Given the description of an element on the screen output the (x, y) to click on. 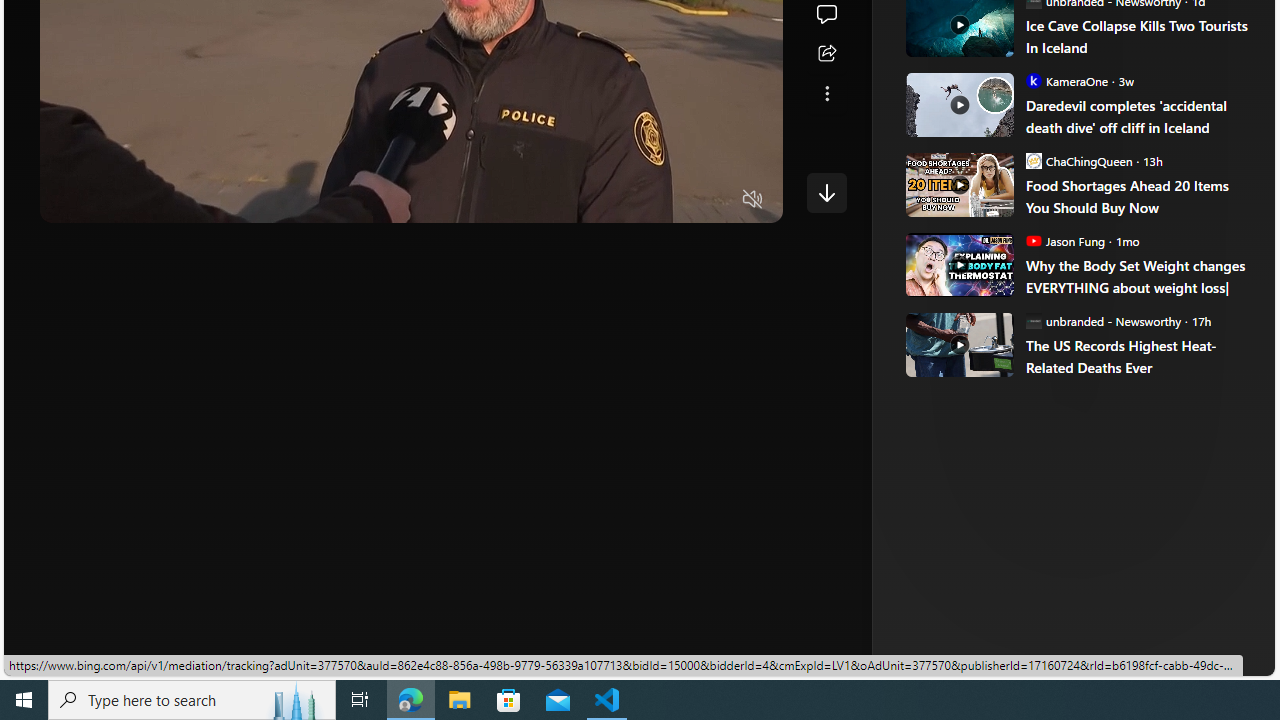
Share this story (826, 53)
Nordace (1003, 337)
Ad Choice (1212, 336)
Jason Fung Jason Fung (1064, 240)
ABC News (974, 12)
unbranded - Newsworthy (1033, 320)
Seek Forward (150, 200)
See more (826, 93)
Feedback (1199, 659)
Unmute (753, 200)
Pause (69, 200)
Jason Fung (1033, 240)
Food Shortages Ahead 20 Items You Should Buy Now (1136, 196)
